Given the description of an element on the screen output the (x, y) to click on. 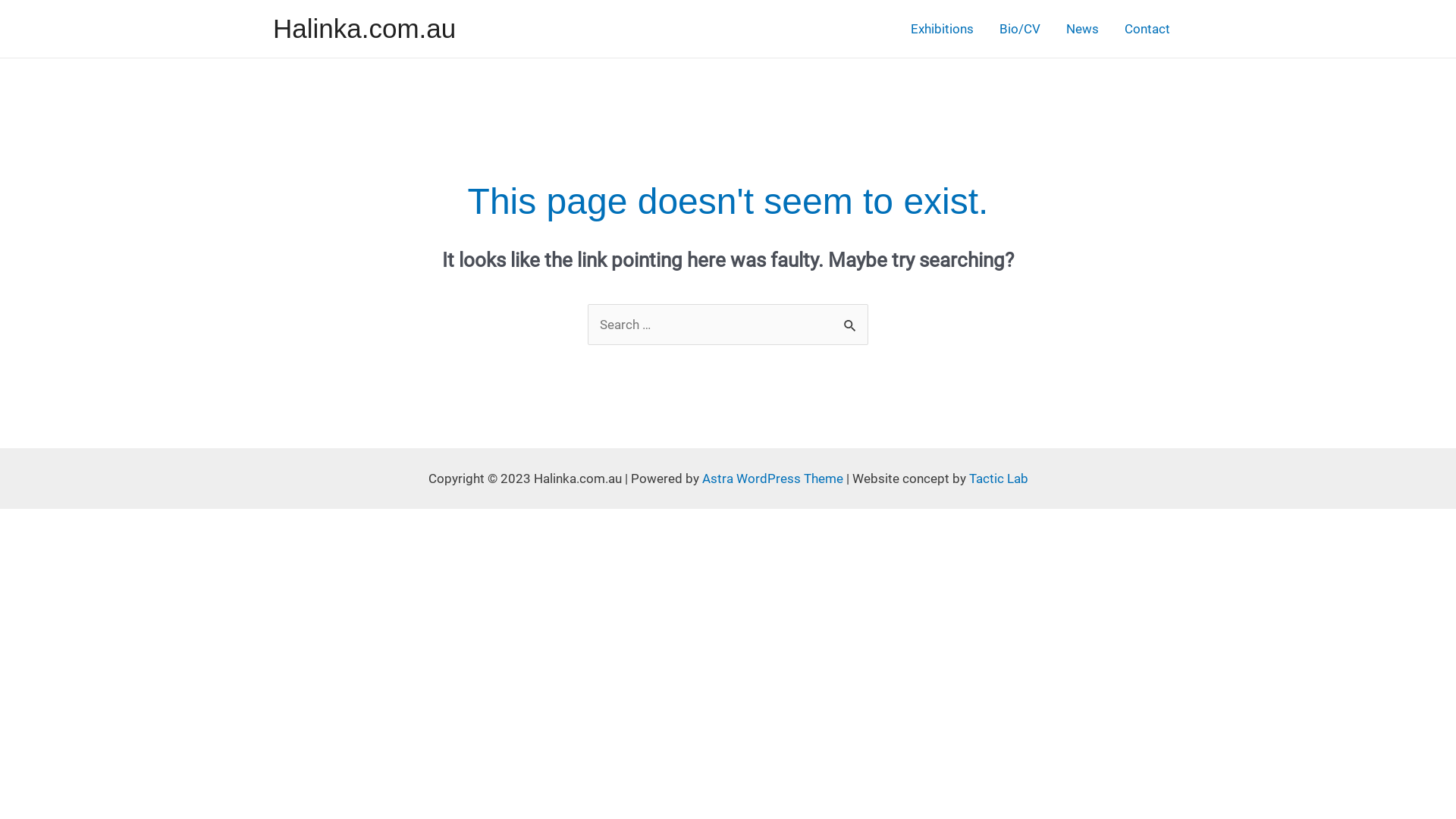
Bio/CV Element type: text (1019, 28)
Halinka.com.au Element type: text (364, 28)
Exhibitions Element type: text (941, 28)
Tactic Lab Element type: text (998, 478)
News Element type: text (1082, 28)
Search Element type: text (851, 320)
Astra WordPress Theme Element type: text (772, 478)
Contact Element type: text (1147, 28)
